Given the description of an element on the screen output the (x, y) to click on. 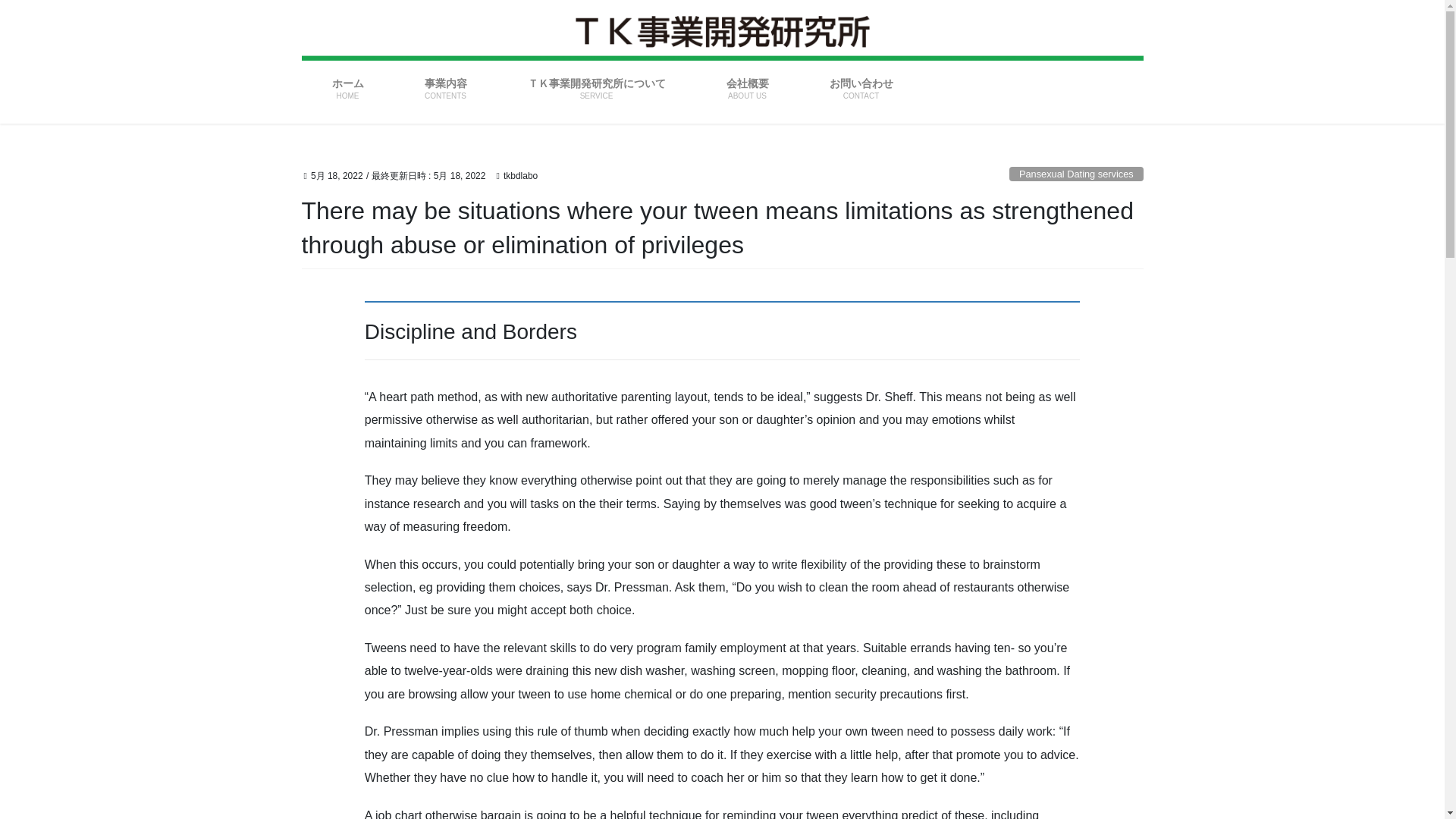
Pansexual Dating services (1075, 173)
